Given the description of an element on the screen output the (x, y) to click on. 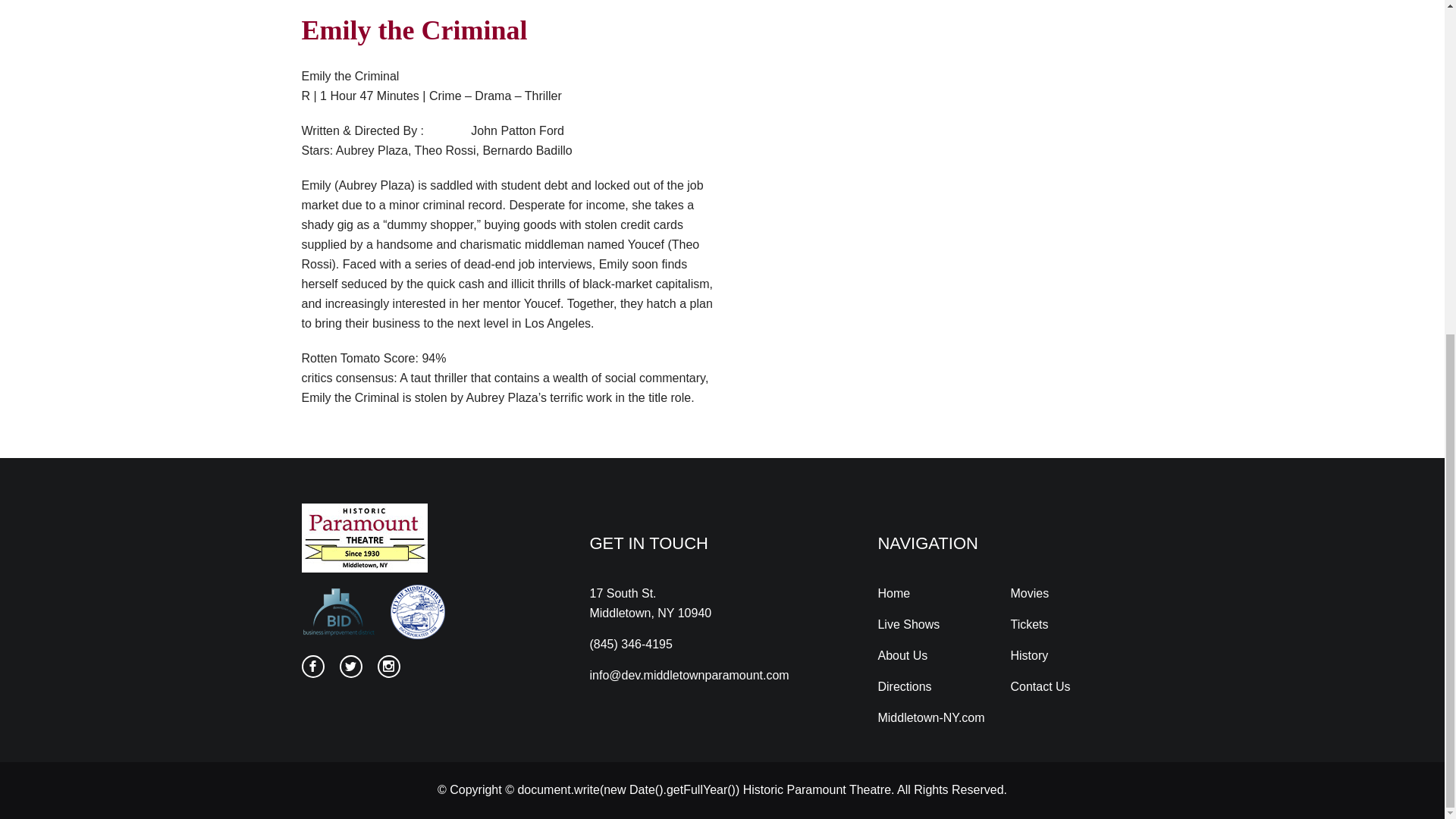
Home (893, 592)
About Us (902, 655)
Tickets (1029, 624)
Live Shows (908, 624)
Historic Paramount Theatre (816, 789)
Contact Us (1040, 686)
Movies (1029, 592)
History (1029, 655)
Directions (904, 686)
Middletown-NY.com (930, 717)
